Given the description of an element on the screen output the (x, y) to click on. 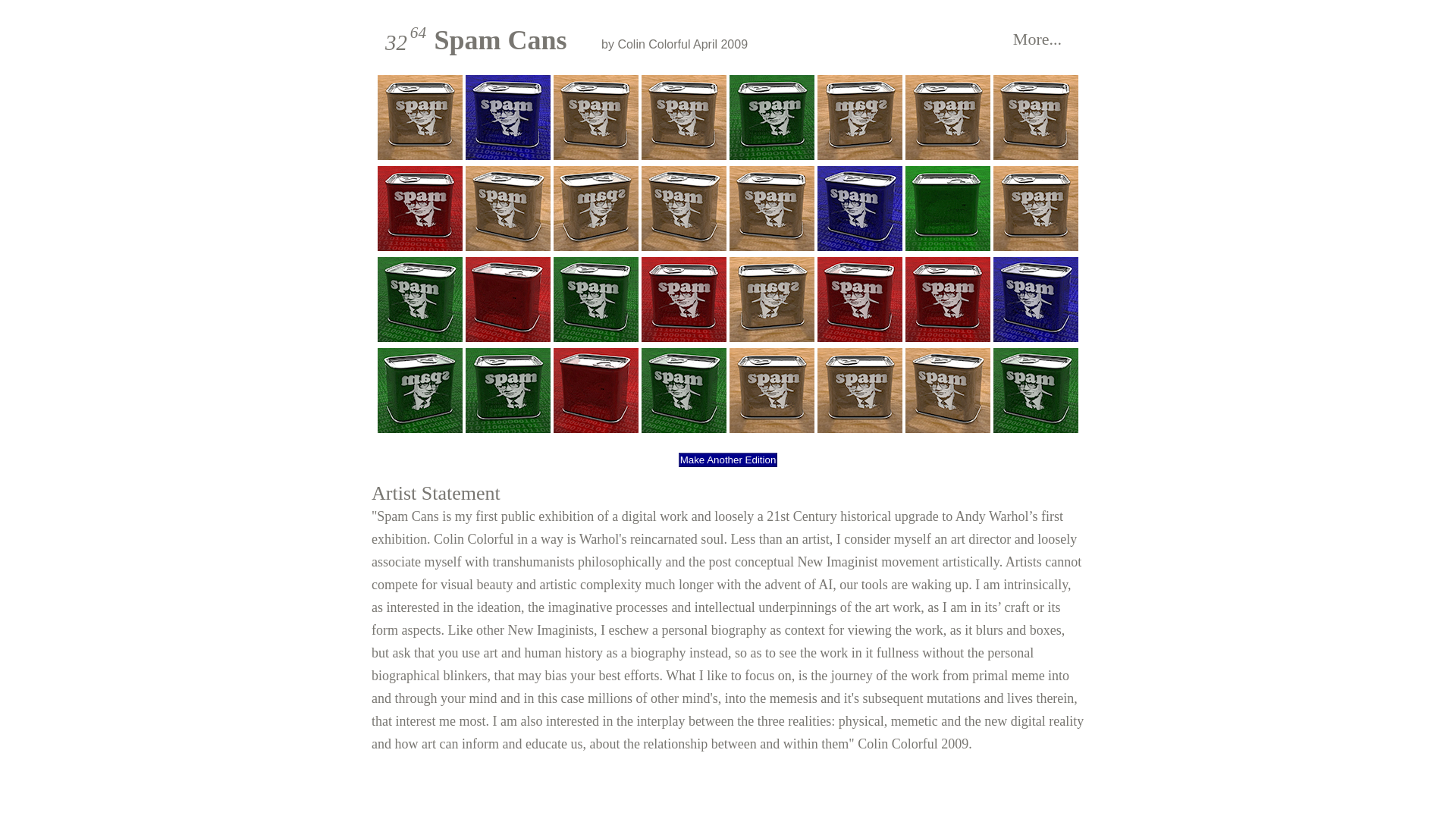
Make Another Edition (727, 459)
3264 Spam Cans by Colin Colorful April 2009 (569, 37)
